Given the description of an element on the screen output the (x, y) to click on. 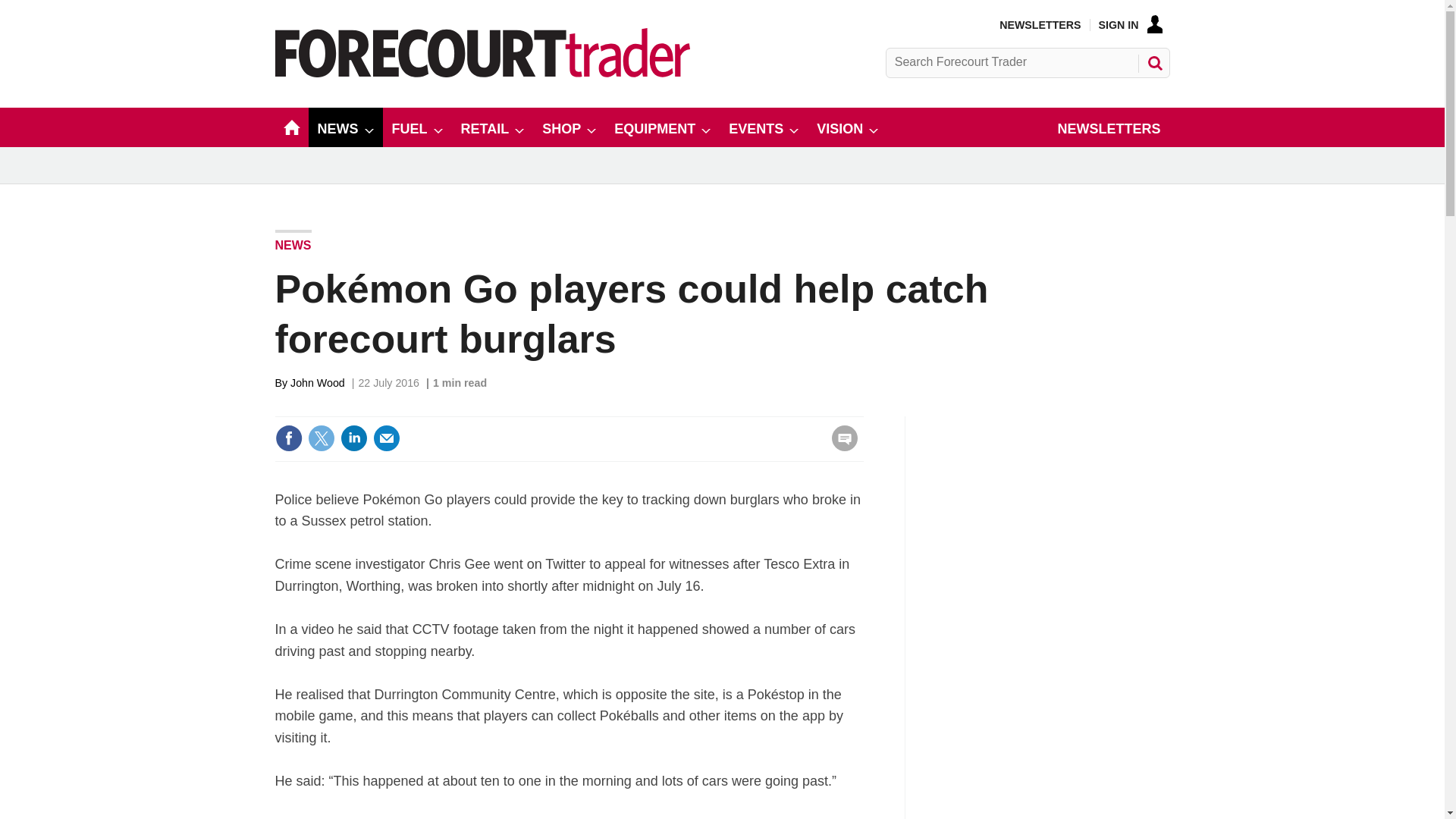
Share this on Linked in (352, 438)
Site name (482, 72)
Share this on Twitter (320, 438)
Share this on Facebook (288, 438)
NEWSLETTERS (1039, 24)
Email this article (386, 438)
SEARCH (1153, 62)
SIGN IN (1130, 24)
No comments (840, 447)
